Given the description of an element on the screen output the (x, y) to click on. 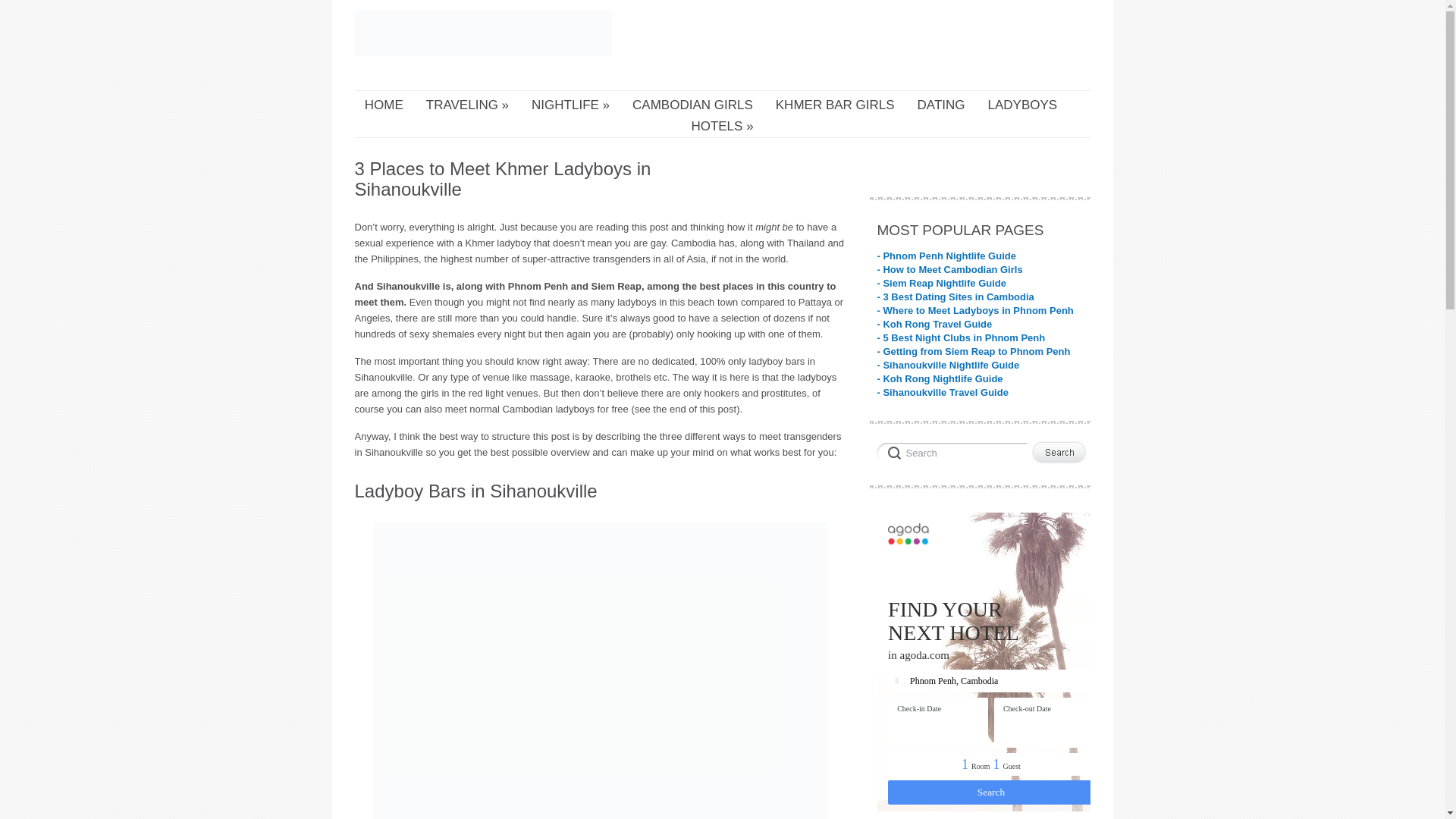
Search (951, 451)
DATING (941, 105)
Search (951, 451)
LADYBOYS (1023, 105)
Nightlife in Cambodia (570, 105)
CAMBODIAN GIRLS (691, 105)
HOME (384, 105)
KHMER BAR GIRLS (835, 105)
